Given the description of an element on the screen output the (x, y) to click on. 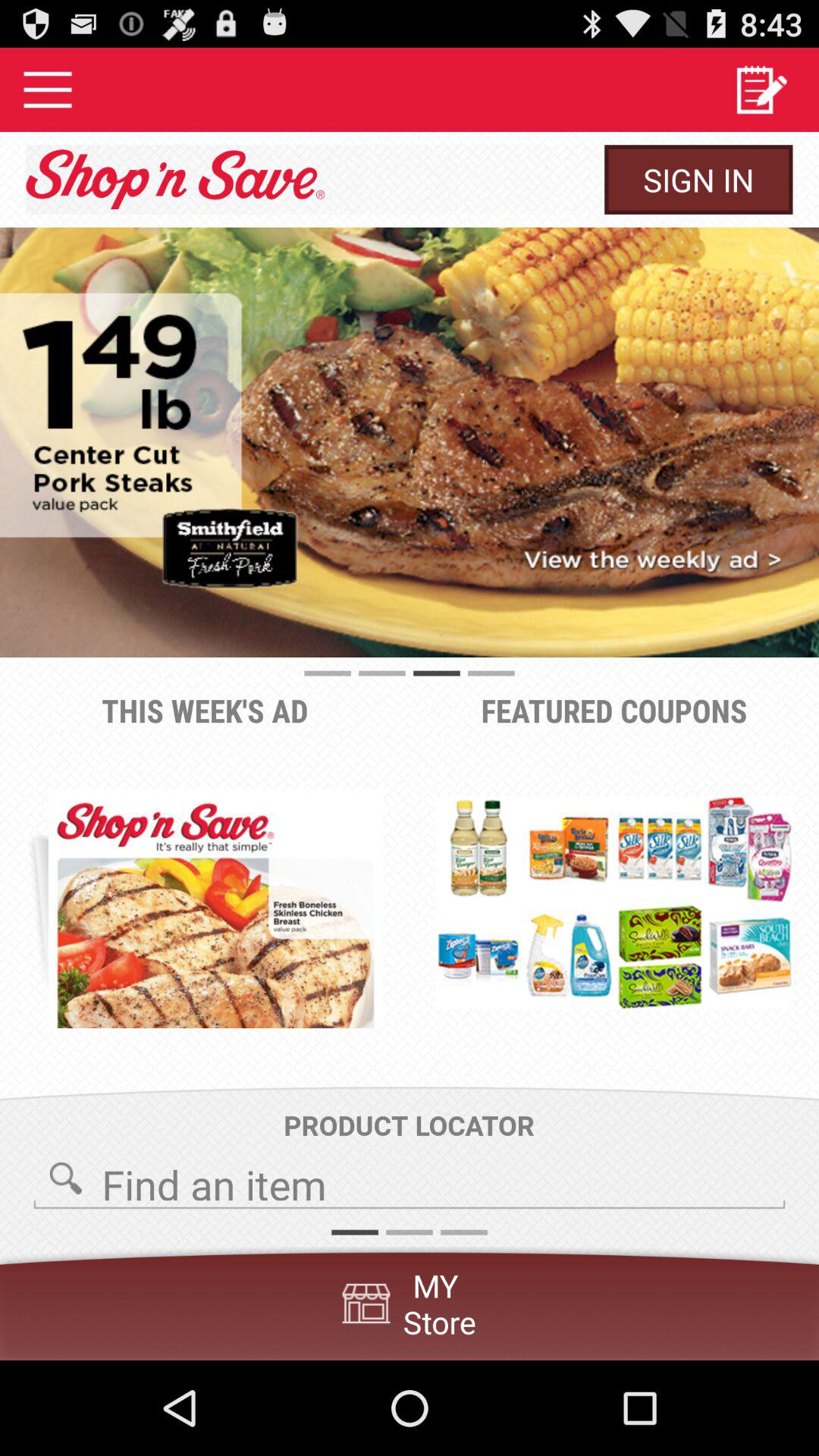
open the sign in button (698, 179)
